Given the description of an element on the screen output the (x, y) to click on. 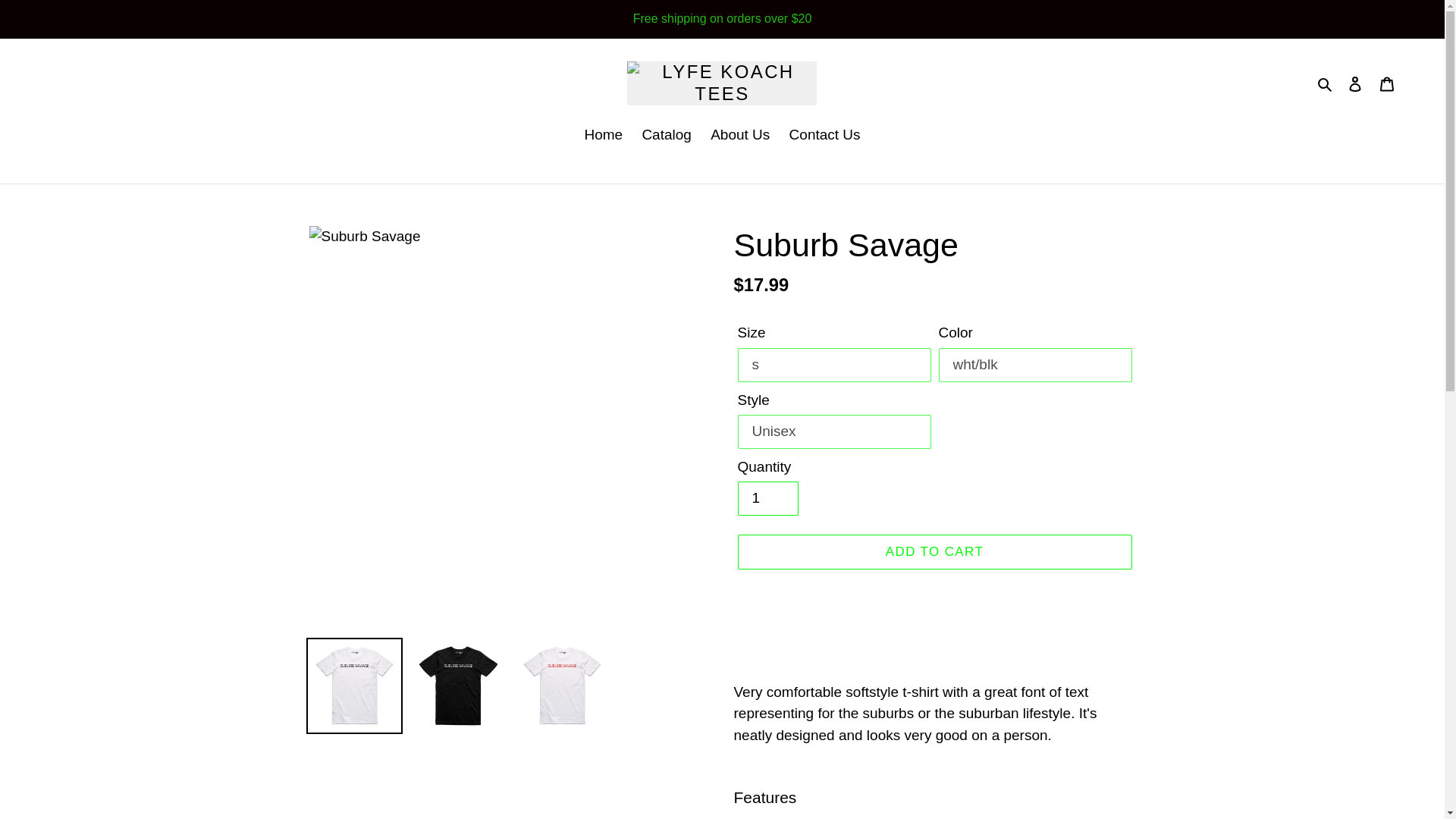
Search (1326, 83)
ADD TO CART (933, 551)
Home (603, 136)
1 (766, 498)
Catalog (665, 136)
About Us (740, 136)
Contact Us (824, 136)
